Given the description of an element on the screen output the (x, y) to click on. 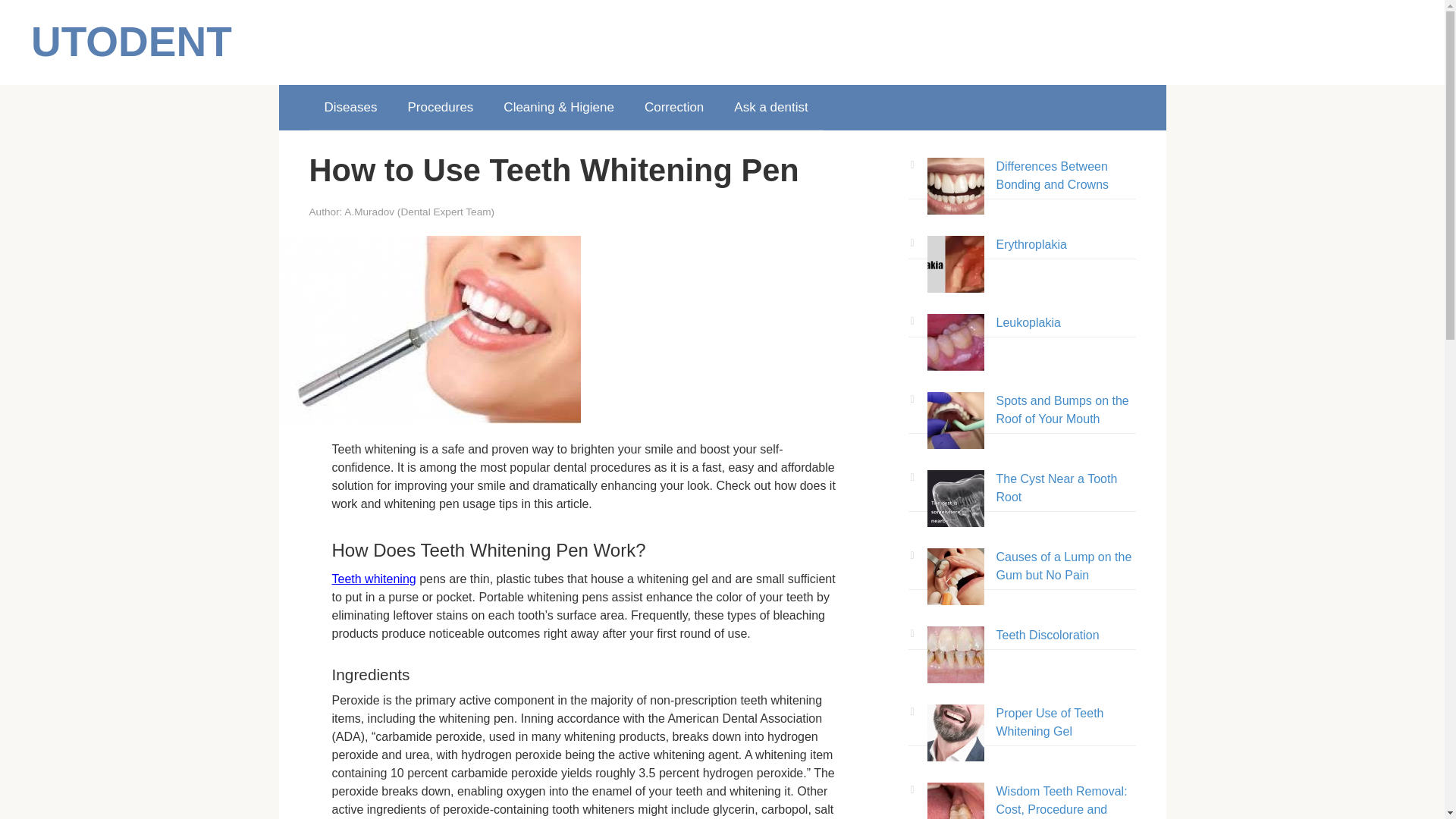
The Cyst Near a Tooth Root (1056, 487)
Wisdom Teeth Removal: Cost, Procedure and Recovery (1060, 801)
Proper Use of Teeth Whitening Gel (1049, 721)
Teeth Discoloration (1047, 634)
Ask a dentist (770, 107)
Erythroplakia (1031, 244)
Teeth whitening (373, 578)
Procedures (439, 107)
Causes of a Lump on the Gum but No Pain (1063, 565)
Leukoplakia (1028, 322)
Diseases (350, 107)
Correction (673, 107)
Differences Between Bonding and Crowns (1052, 174)
UTODENT (130, 41)
Spots and Bumps on the Roof of Your Mouth (1062, 409)
